Given the description of an element on the screen output the (x, y) to click on. 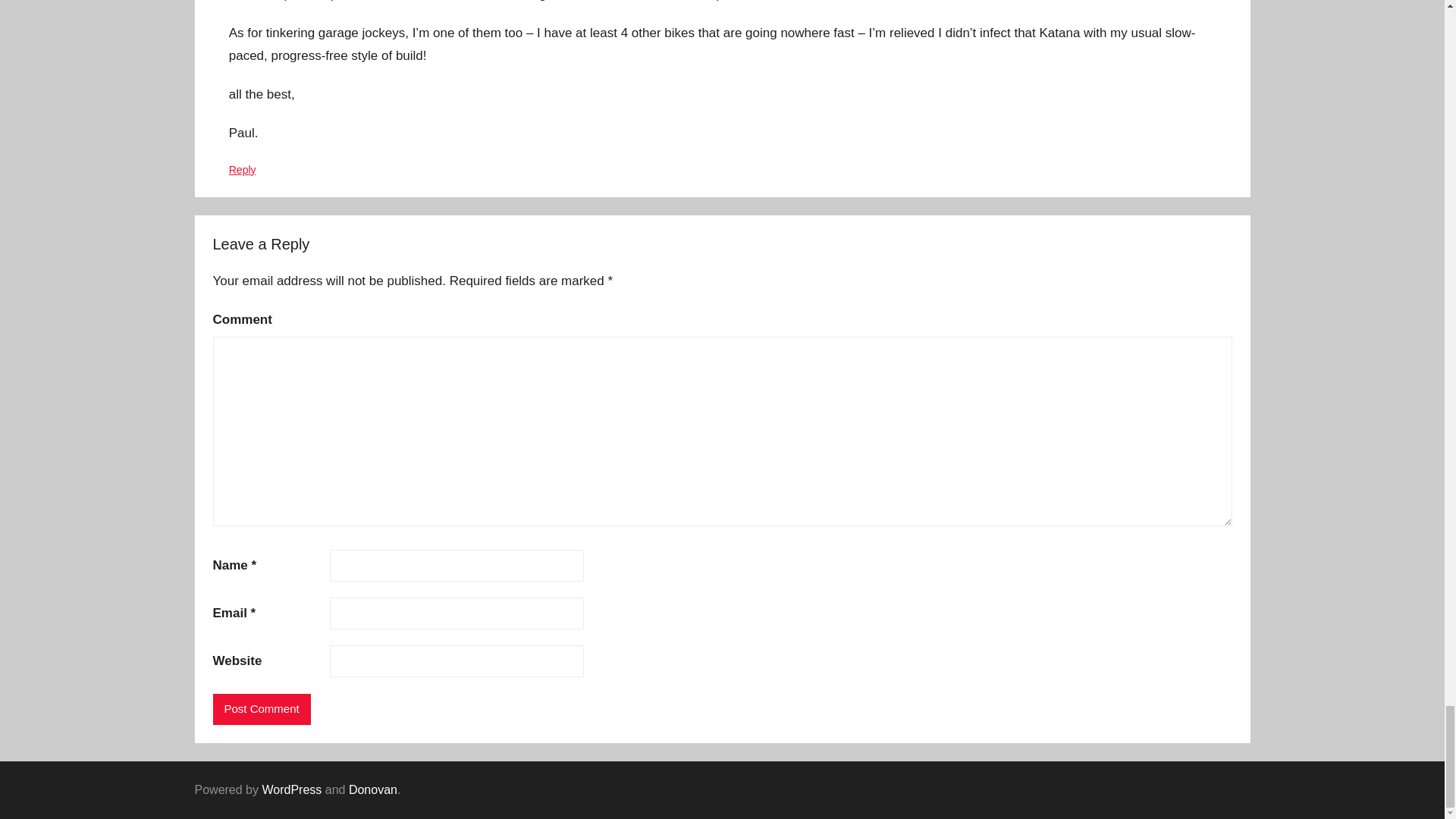
WordPress (291, 789)
Donovan WordPress Theme (373, 789)
WordPress (291, 789)
Post Comment (261, 707)
Reply (242, 169)
Post Comment (261, 707)
Donovan (373, 789)
